Given the description of an element on the screen output the (x, y) to click on. 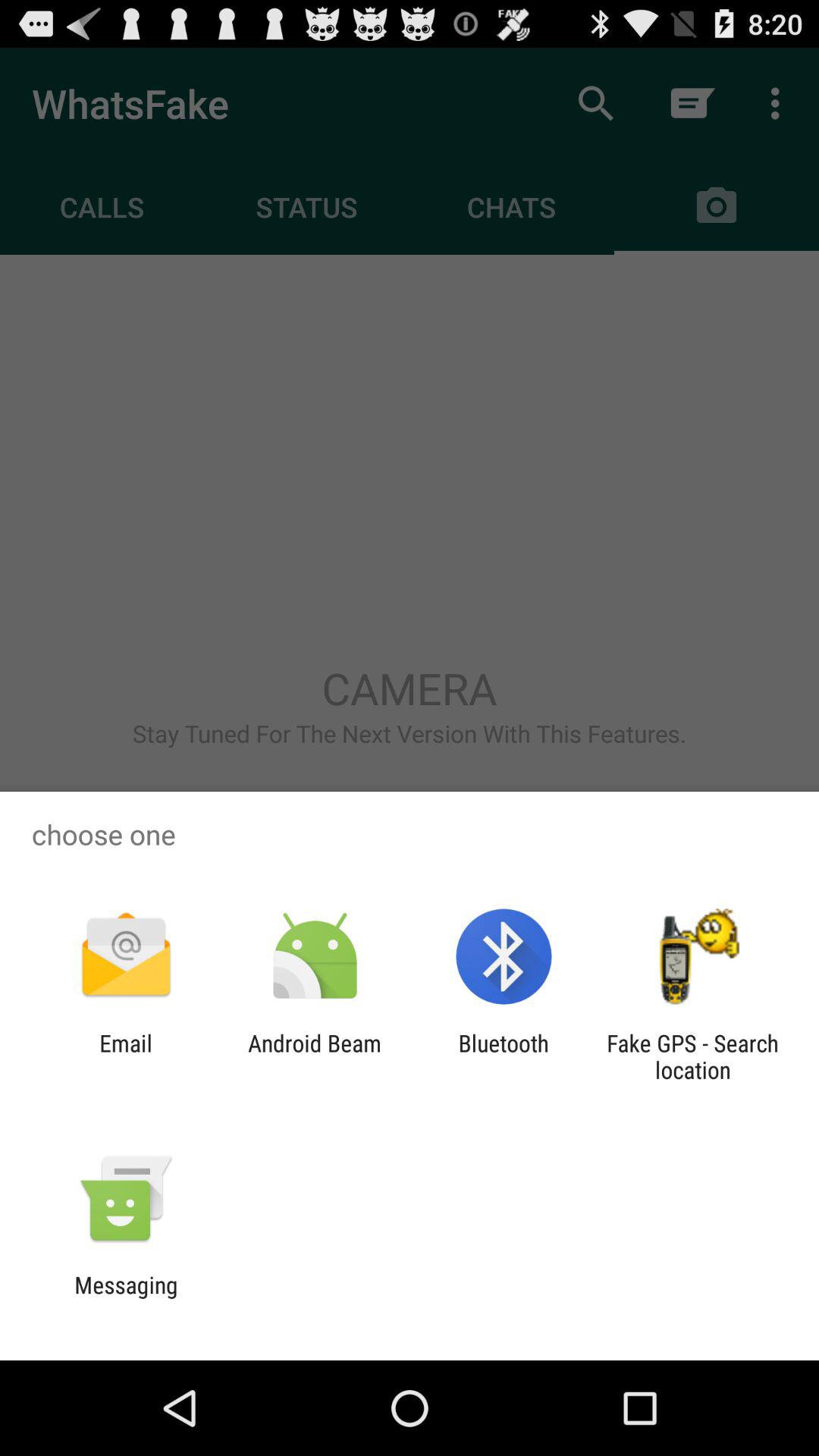
tap the icon next to bluetooth app (692, 1056)
